Given the description of an element on the screen output the (x, y) to click on. 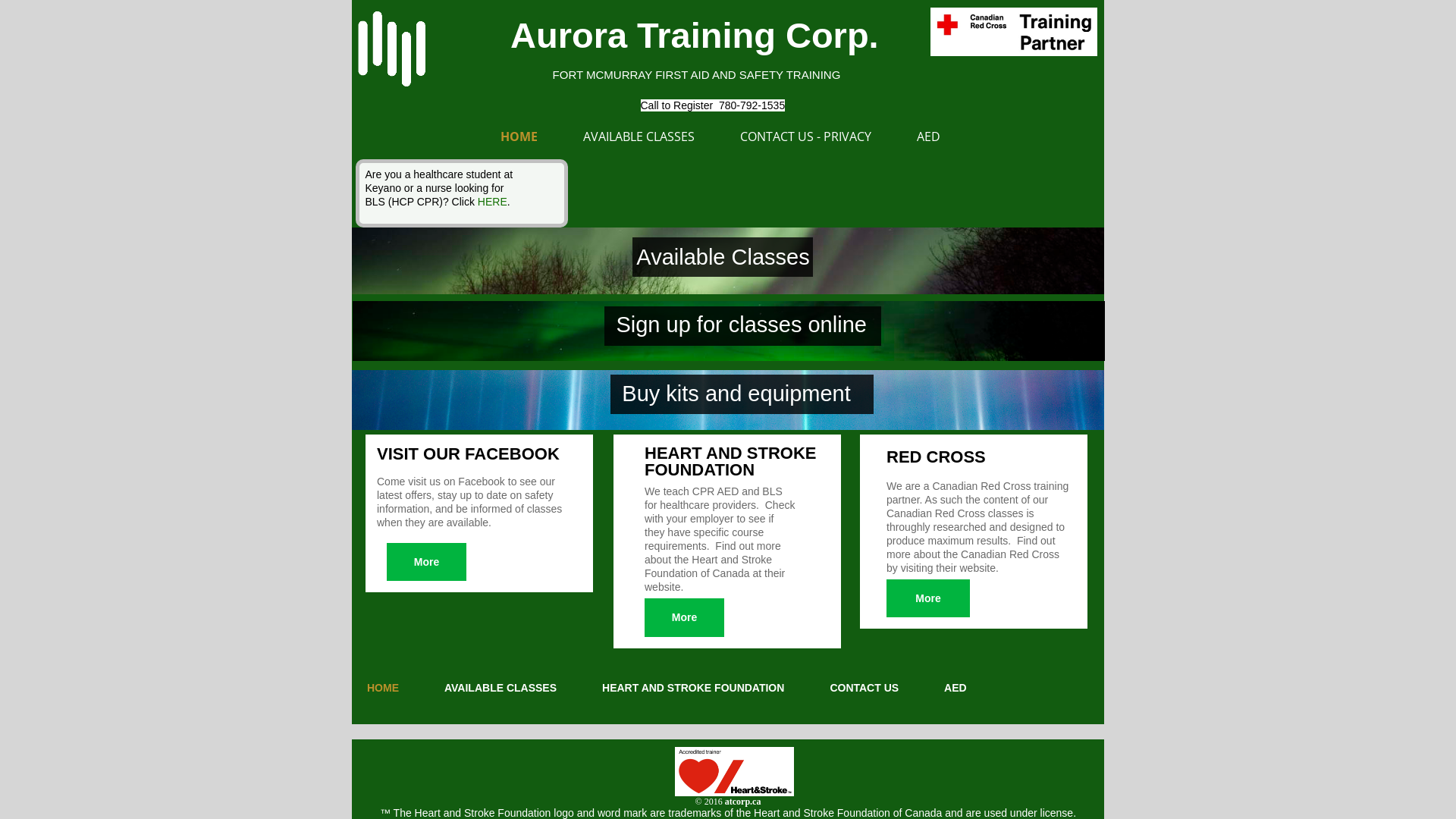
Buy kits and equipment Element type: text (735, 393)
VISIT OUR FACEBOOK Element type: text (467, 453)
AED Element type: text (955, 687)
More Element type: text (684, 617)
CONTACT US - PRIVACY Element type: text (805, 135)
More Element type: text (927, 598)
Sign up for classes online Element type: text (740, 324)
RED CROSS Element type: text (935, 456)
atcorp.ca Element type: text (742, 801)
AVAILABLE CLASSES Element type: text (638, 135)
CONTACT US Element type: text (863, 687)
HERE Element type: text (492, 201)
More Element type: text (426, 561)
AED Element type: text (927, 135)
HOME Element type: text (382, 687)
Available Classes Element type: text (722, 256)
HEART AND STROKE FOUNDATION Element type: text (730, 461)
HOME Element type: text (518, 135)
AVAILABLE CLASSES Element type: text (500, 687)
HEART AND STROKE FOUNDATION Element type: text (692, 687)
